Given the description of an element on the screen output the (x, y) to click on. 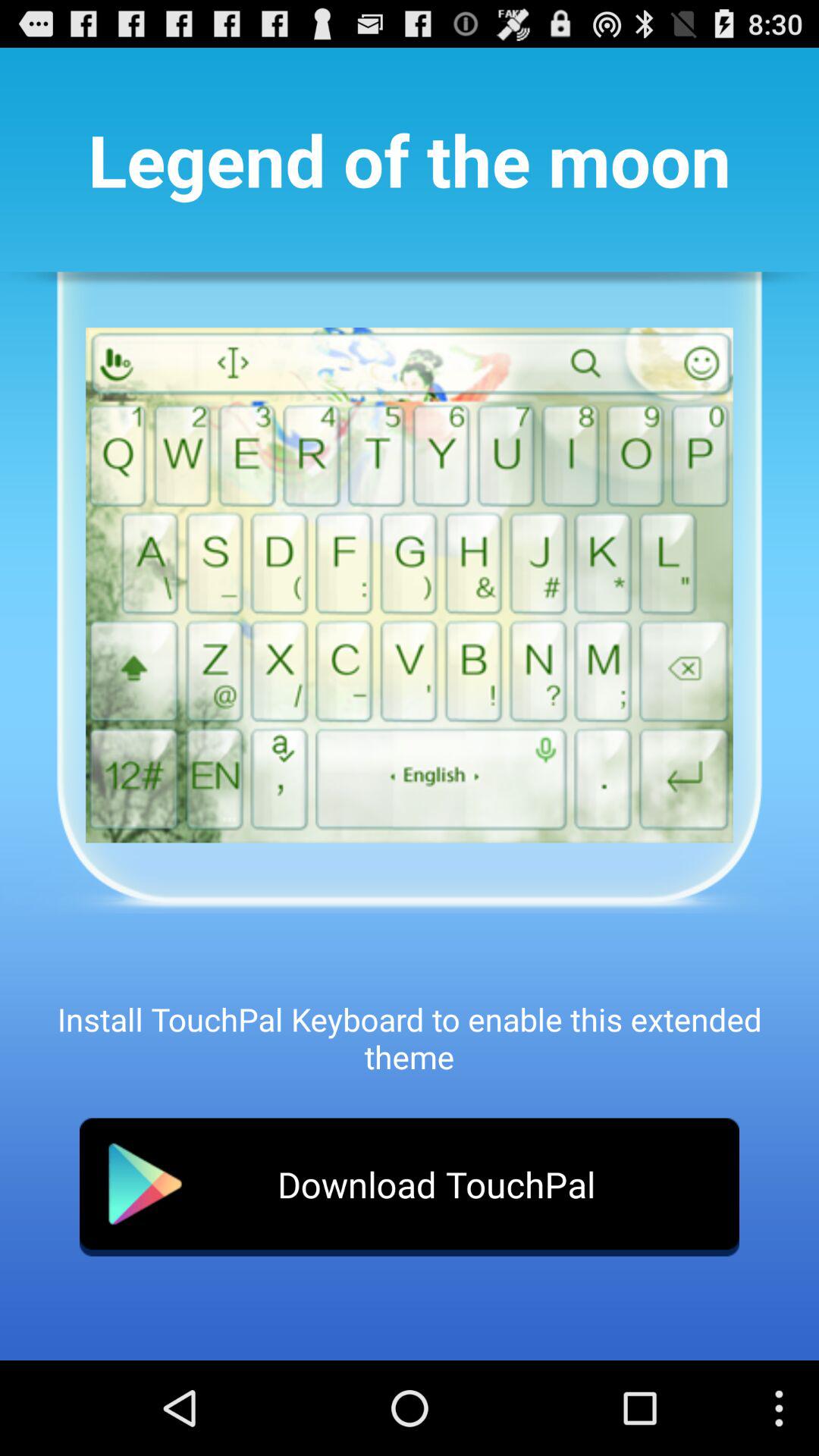
choose the download touchpal icon (409, 1187)
